Given the description of an element on the screen output the (x, y) to click on. 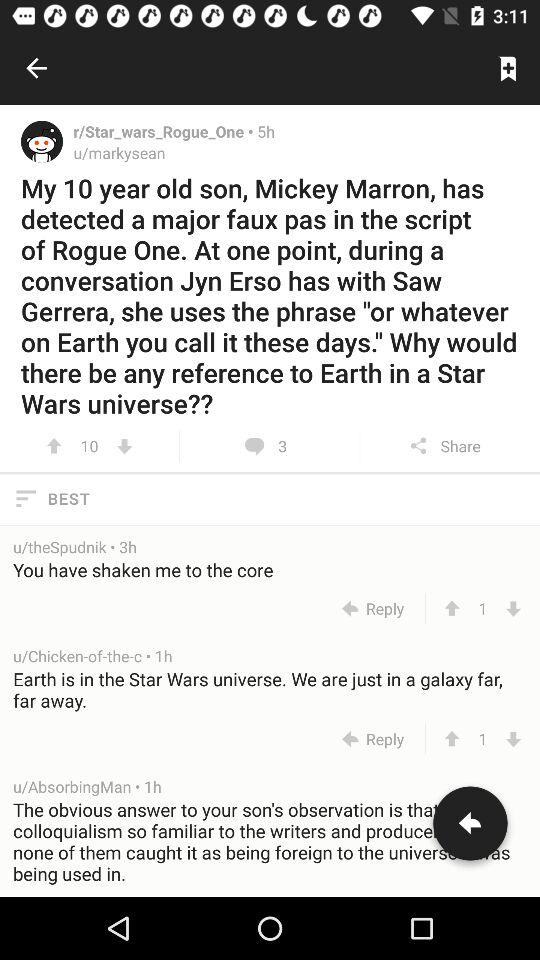
down vote (513, 738)
